Given the description of an element on the screen output the (x, y) to click on. 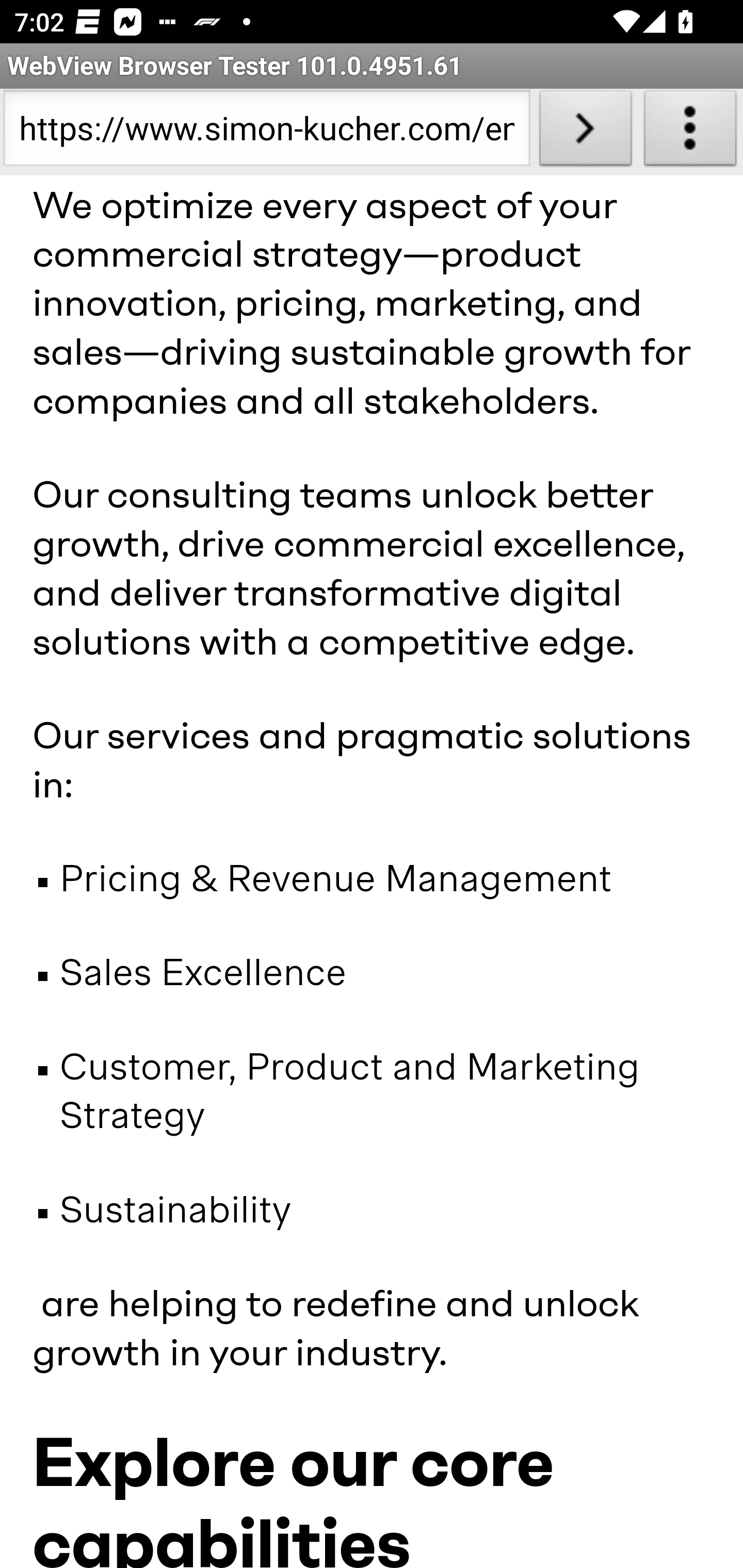
Load URL (585, 132)
About WebView (690, 132)
